Given the description of an element on the screen output the (x, y) to click on. 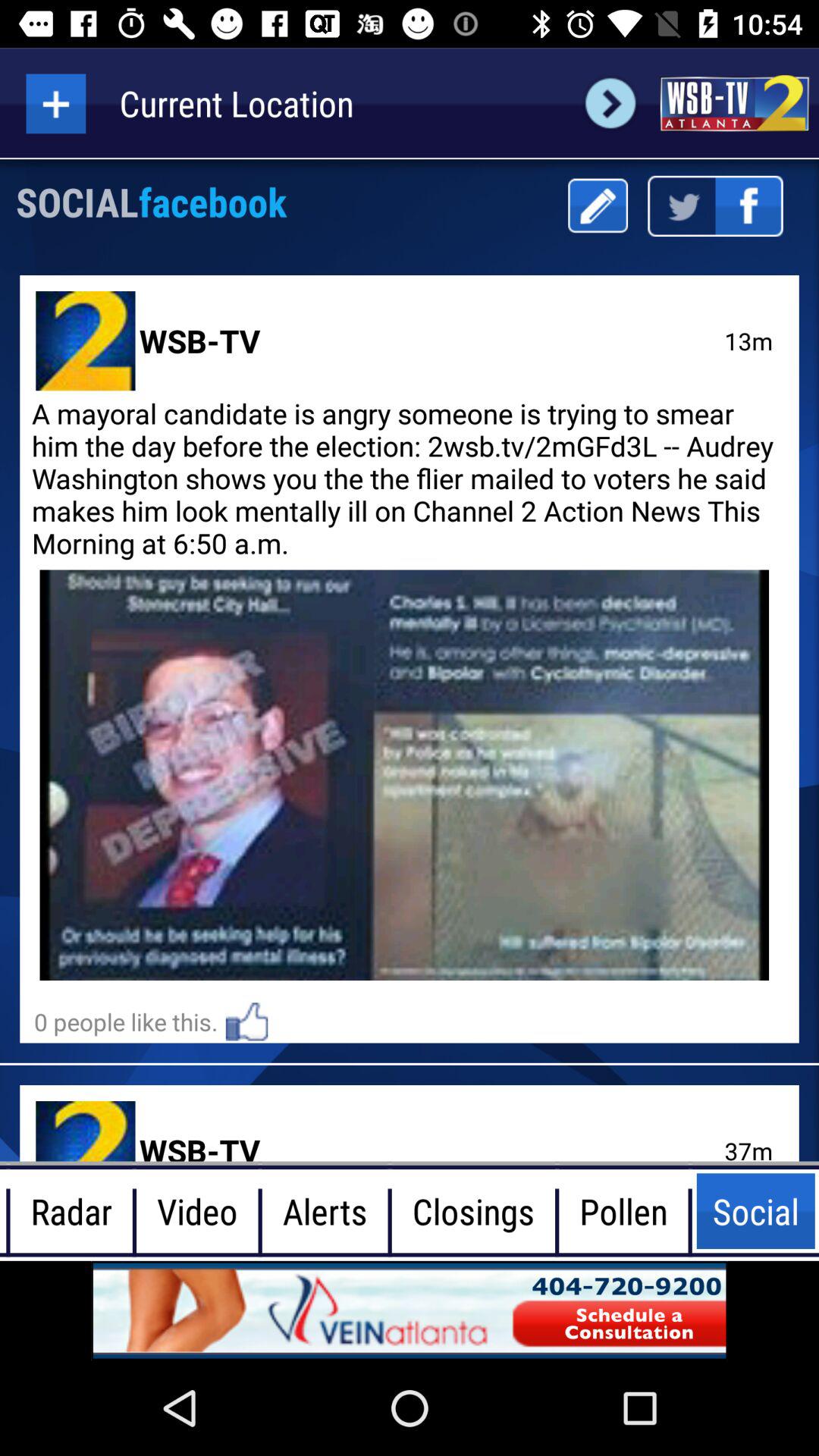
edit (597, 206)
